Given the description of an element on the screen output the (x, y) to click on. 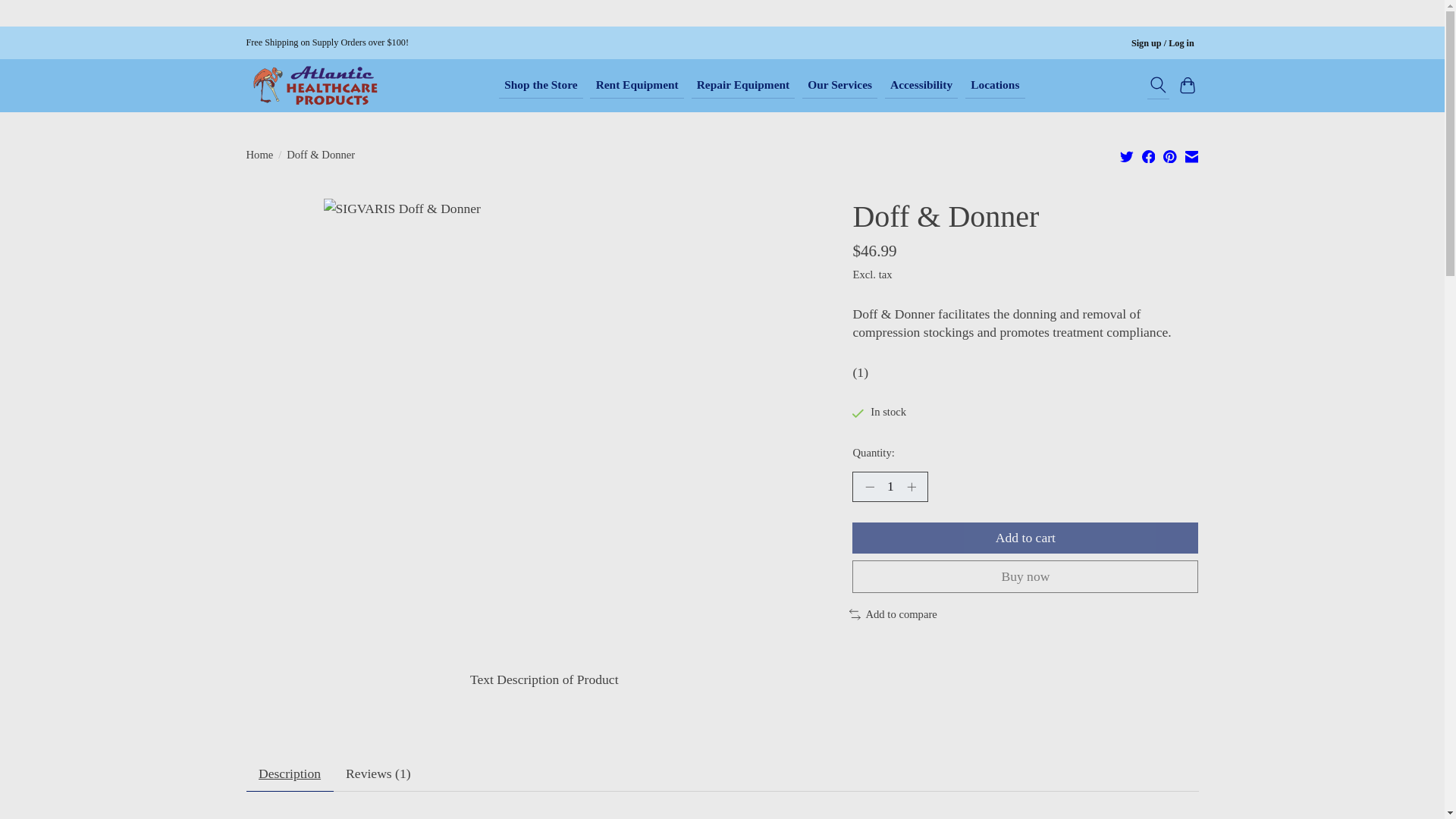
Rent Equipment (635, 84)
Add to cart (1024, 537)
Locations (995, 84)
1 (889, 486)
Add to compare (892, 614)
Home (259, 154)
Description (289, 773)
Repair Equipment (742, 84)
Shop the Store (541, 84)
Accessibility (921, 84)
